Given the description of an element on the screen output the (x, y) to click on. 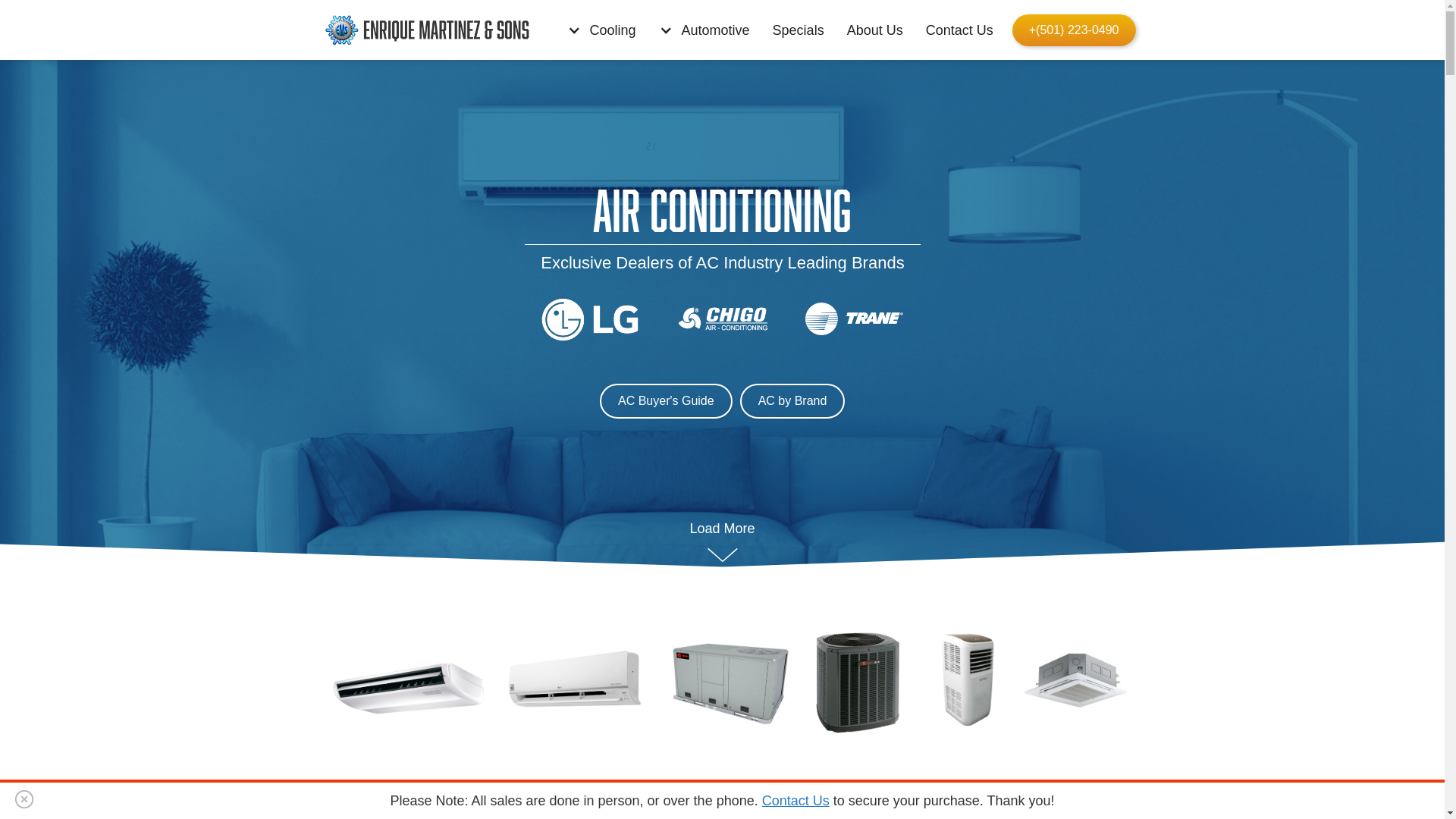
Like us on Facebook Element type: text (984, 576)
Care Care Products Element type: text (604, 631)
Terms of Service Element type: text (407, 576)
Lubricant Additives Element type: text (601, 604)
AC by Brand Element type: text (791, 400)
Contact Us Element type: text (963, 30)
AC Units by Brand Element type: text (788, 576)
Privacy Policy Element type: text (398, 549)
Car Wash Element type: text (574, 549)
Auto Care Products Element type: text (603, 576)
Load More Element type: text (722, 541)
About Us Element type: text (878, 30)
Contact Us Element type: text (795, 800)
Tire Shop Element type: text (573, 522)
Send us an Email Element type: text (974, 549)
Air Conditioners Element type: text (780, 522)
AC Buyers Guide Element type: text (784, 549)
Specials Element type: text (802, 30)
+(501) 223-0490 Element type: text (1073, 30)
AC Buyer's Guide Element type: text (665, 400)
Submit Element type: text (997, 406)
HVACR Equipment Element type: text (790, 604)
About Us Element type: text (384, 522)
+501.606.4154 Element type: text (967, 522)
